Given the description of an element on the screen output the (x, y) to click on. 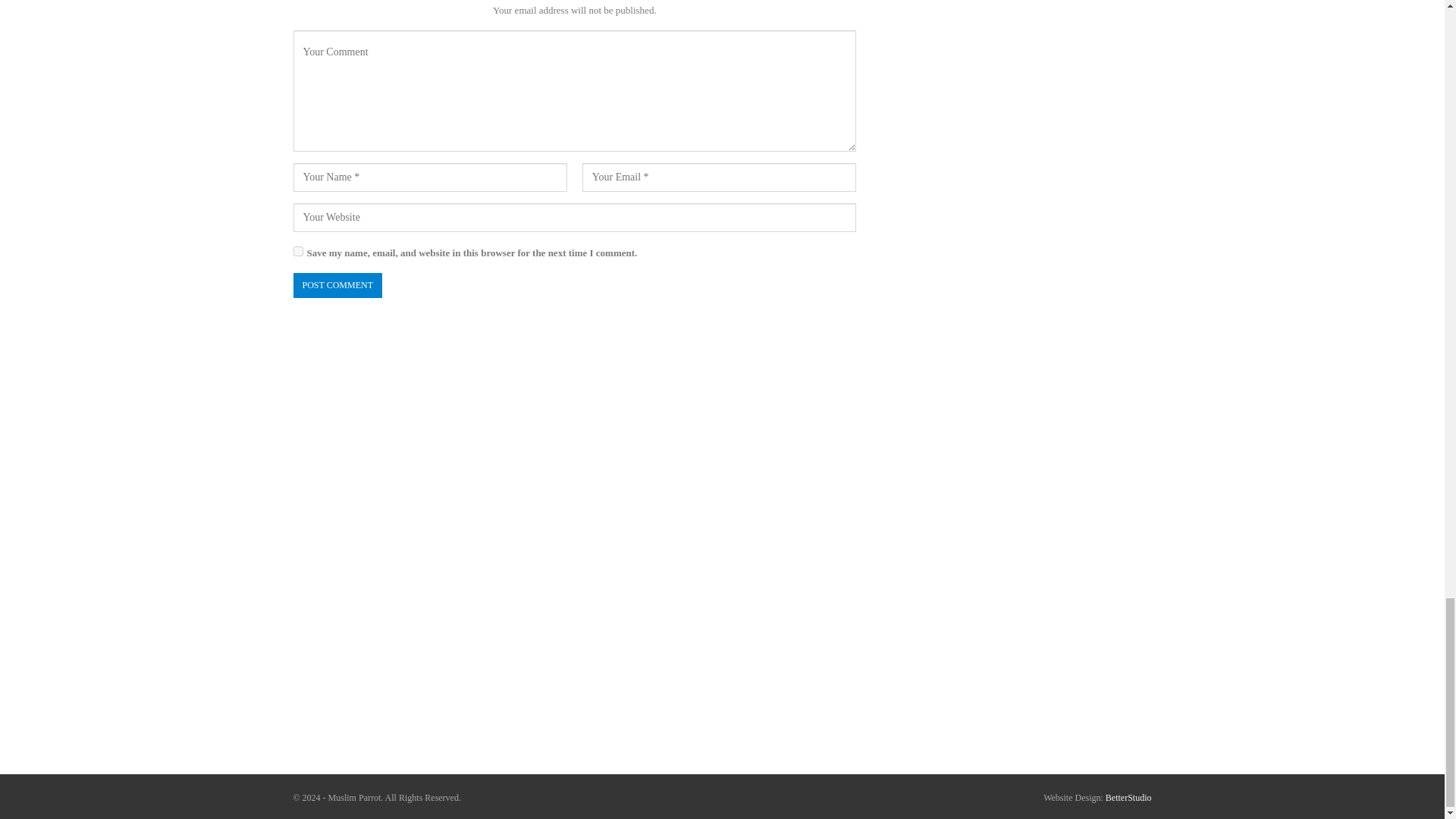
yes (297, 251)
Post Comment (336, 285)
